Given the description of an element on the screen output the (x, y) to click on. 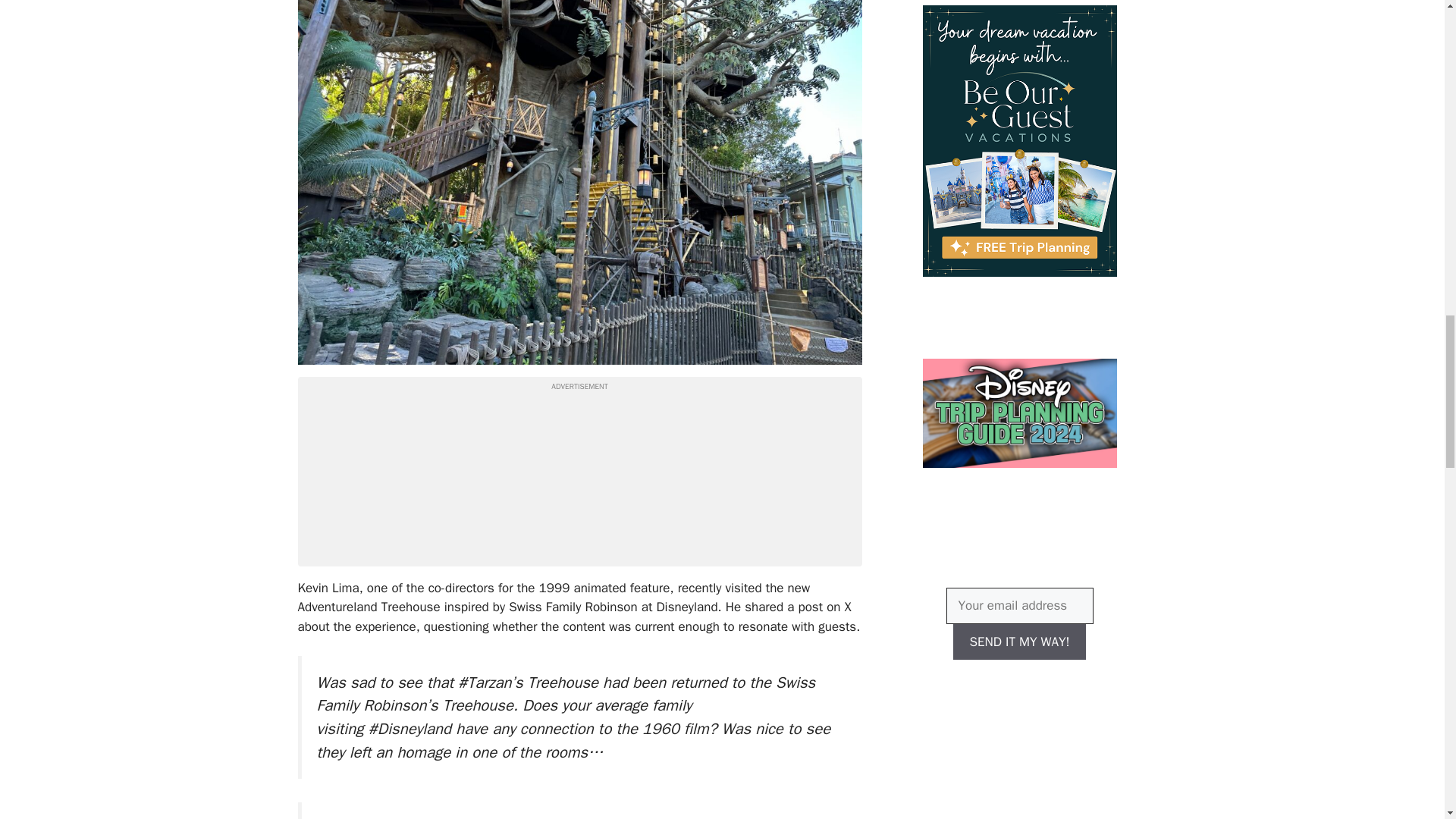
SEND IT MY WAY! (1018, 642)
